Given the description of an element on the screen output the (x, y) to click on. 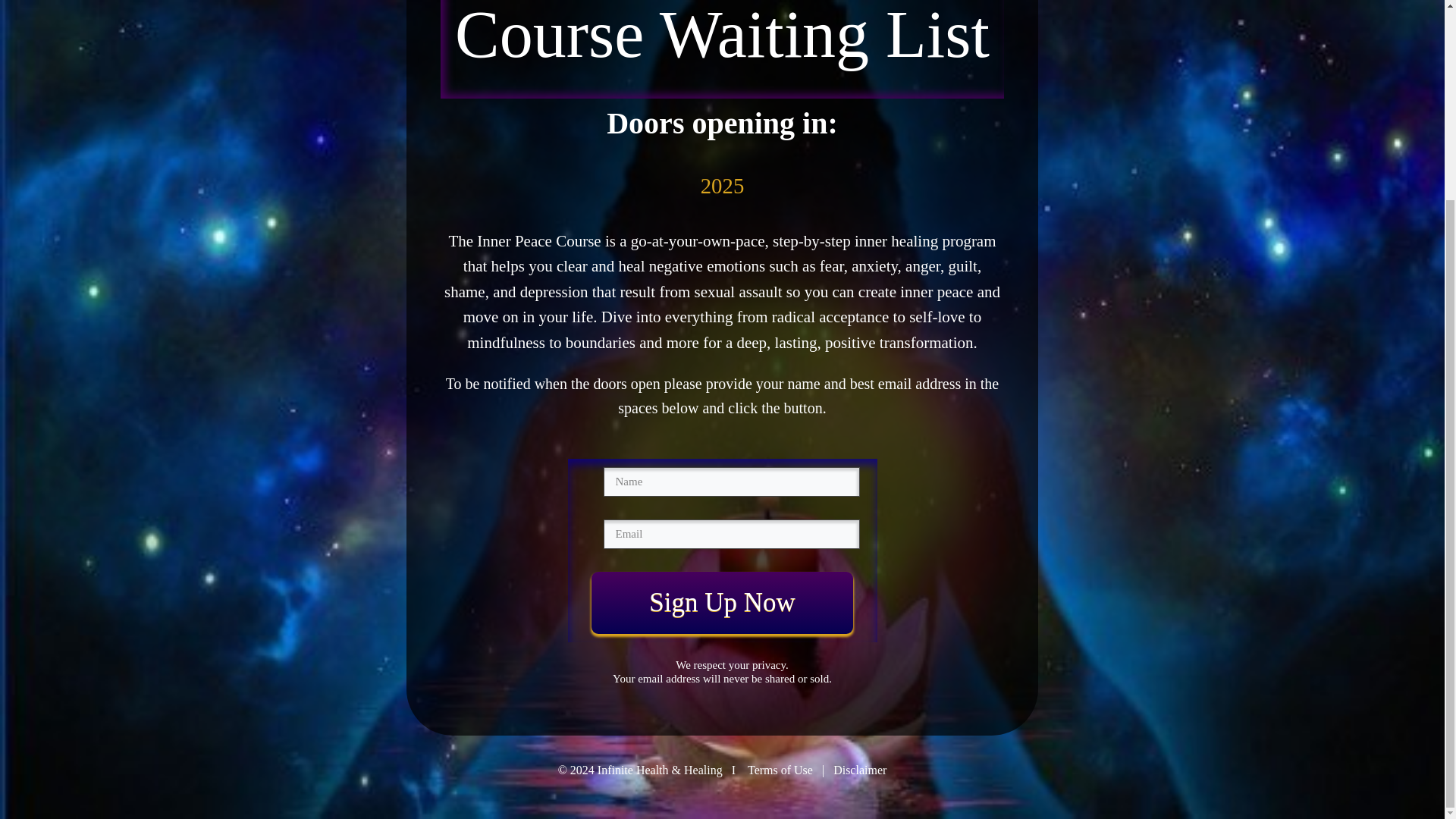
Sign Up Now (722, 602)
Terms of Use (780, 769)
Disclaimer (859, 769)
